Given the description of an element on the screen output the (x, y) to click on. 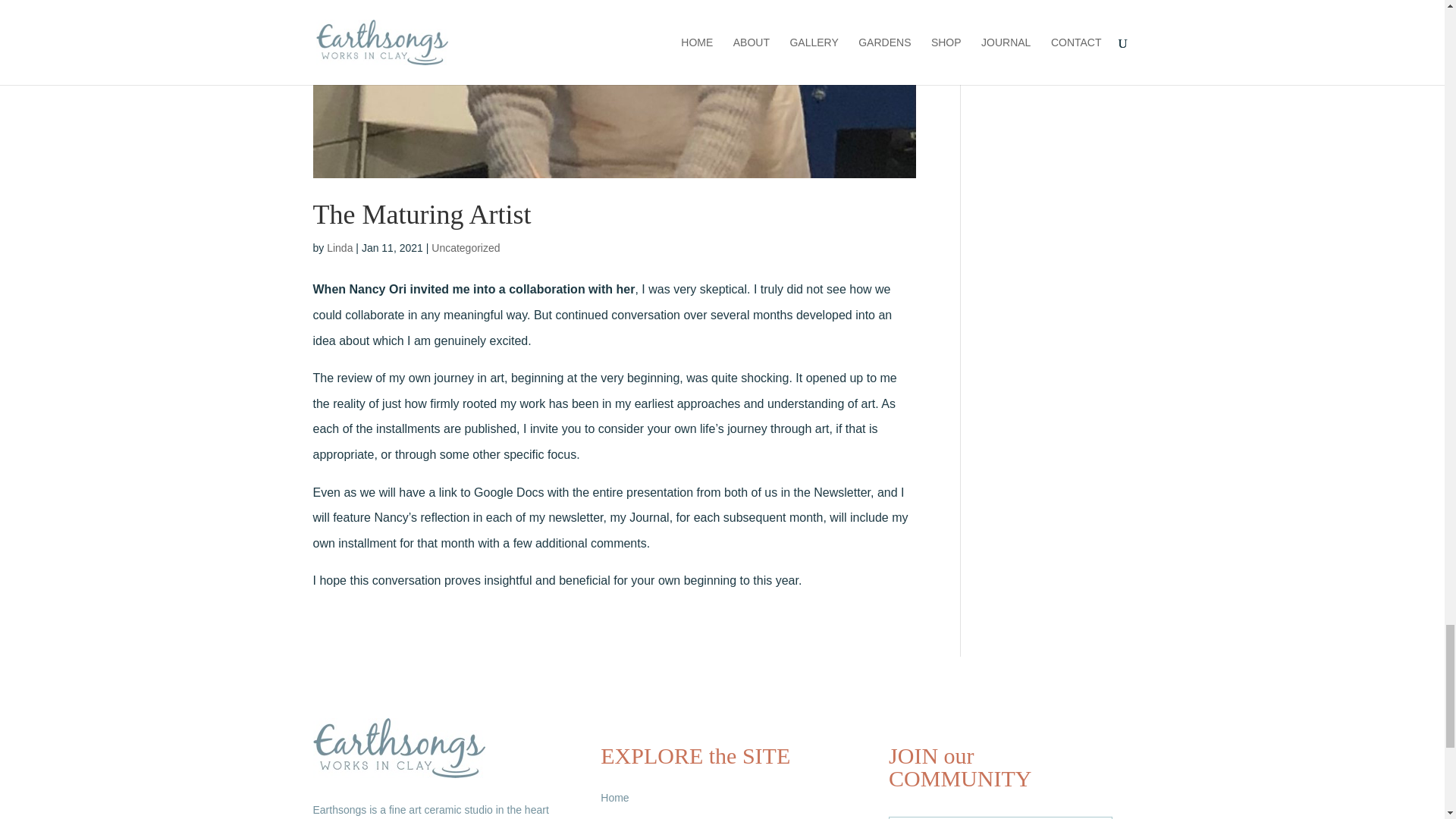
Posts by Linda (339, 247)
The Maturing Artist (422, 214)
Linda (339, 247)
Uncategorized (464, 247)
